Given the description of an element on the screen output the (x, y) to click on. 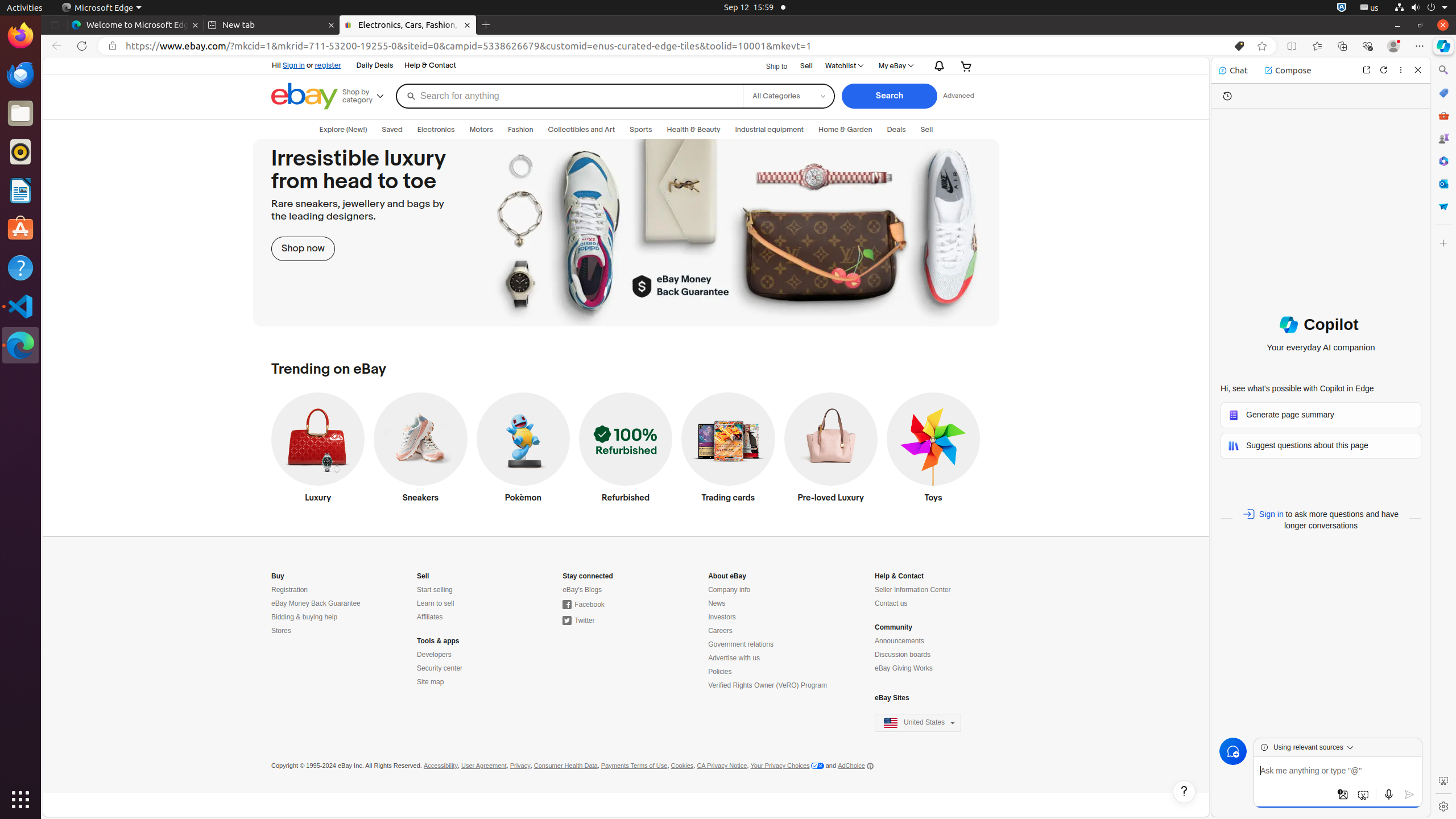
Refresh Element type: push-button (81, 45)
Cookies Element type: link (681, 765)
Security center Element type: link (439, 668)
Electronics, Cars, Fashion, Collectibles & More | eBay Element type: page-tab (407, 25)
Government relations Element type: link (740, 644)
